Given the description of an element on the screen output the (x, y) to click on. 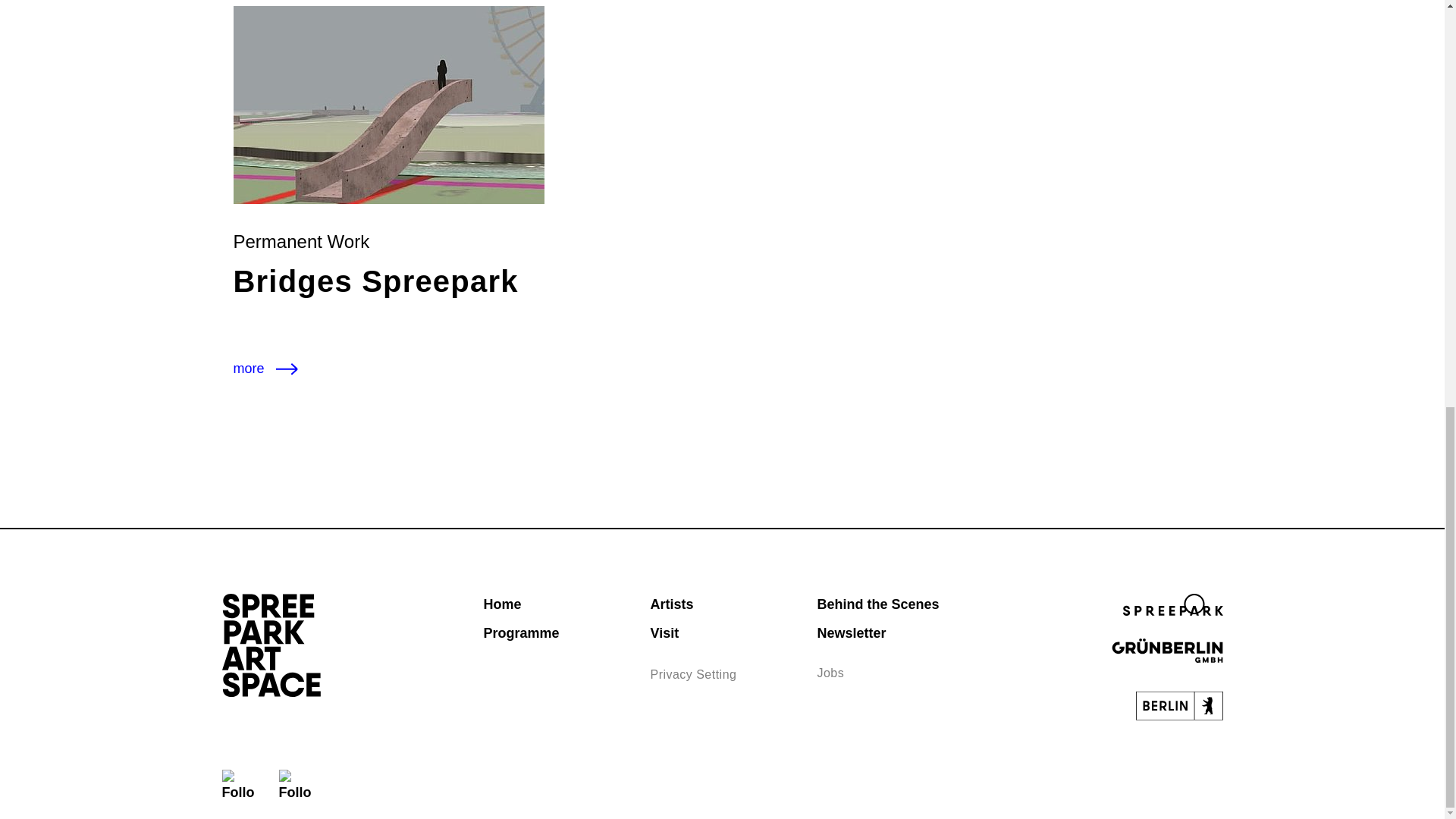
Home (502, 604)
Jobs (830, 672)
Programme (521, 632)
more (268, 368)
to the homepage (270, 644)
Privacy Setting (692, 674)
Newsletter (850, 632)
Visit (663, 632)
Behind the Scenes (877, 604)
Artists (671, 604)
